Given the description of an element on the screen output the (x, y) to click on. 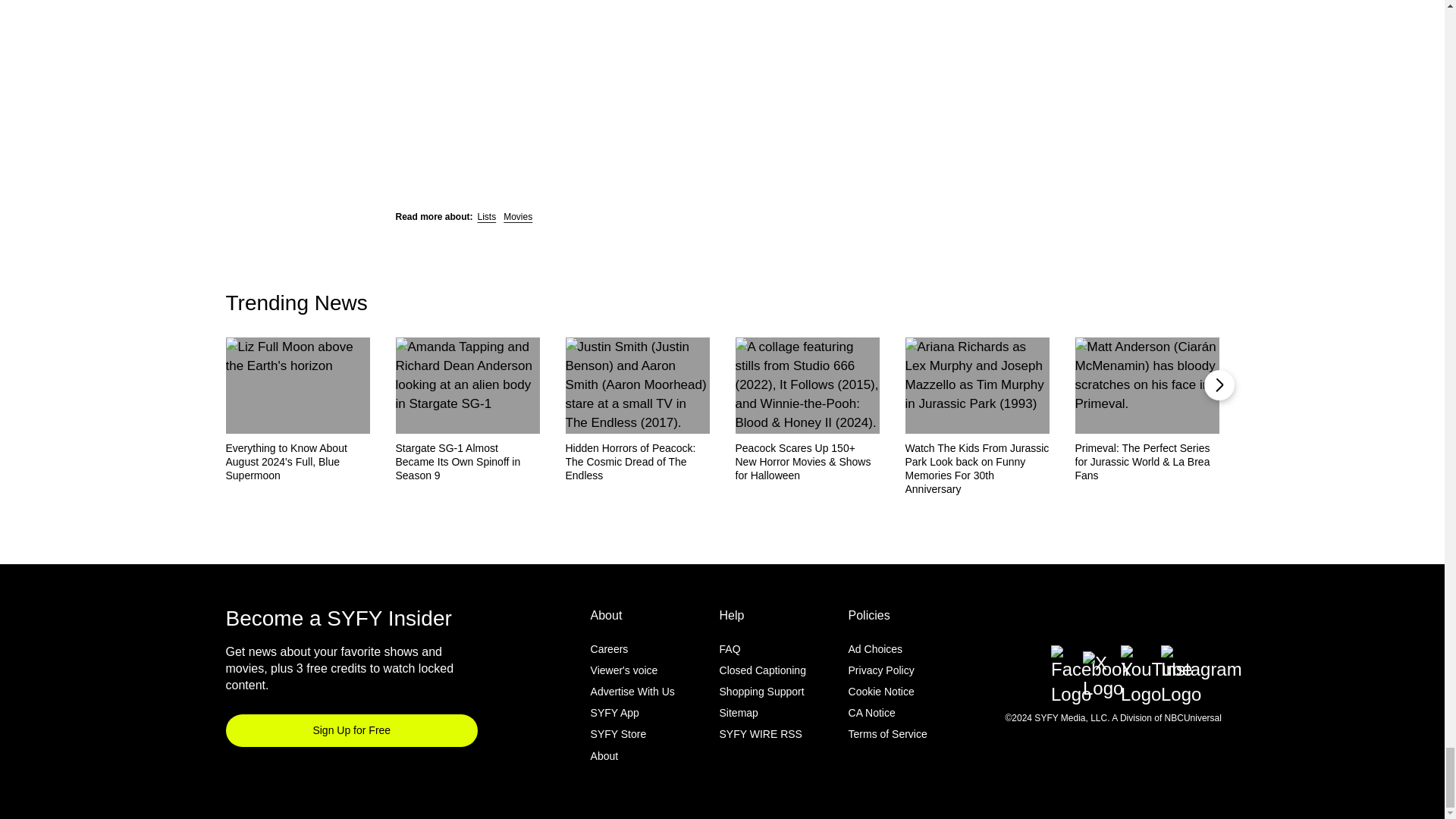
Missing media item. (721, 35)
Everything to Know About August 2024's Full, Blue Supermoon (297, 461)
Stargate SG-1 Almost Became Its Own Spinoff in Season 9 (468, 461)
Hidden Horrors of Peacock: The Cosmic Dread of The Endless (638, 461)
Lists (486, 216)
Advertise With Us (633, 691)
Movies (517, 216)
